Given the description of an element on the screen output the (x, y) to click on. 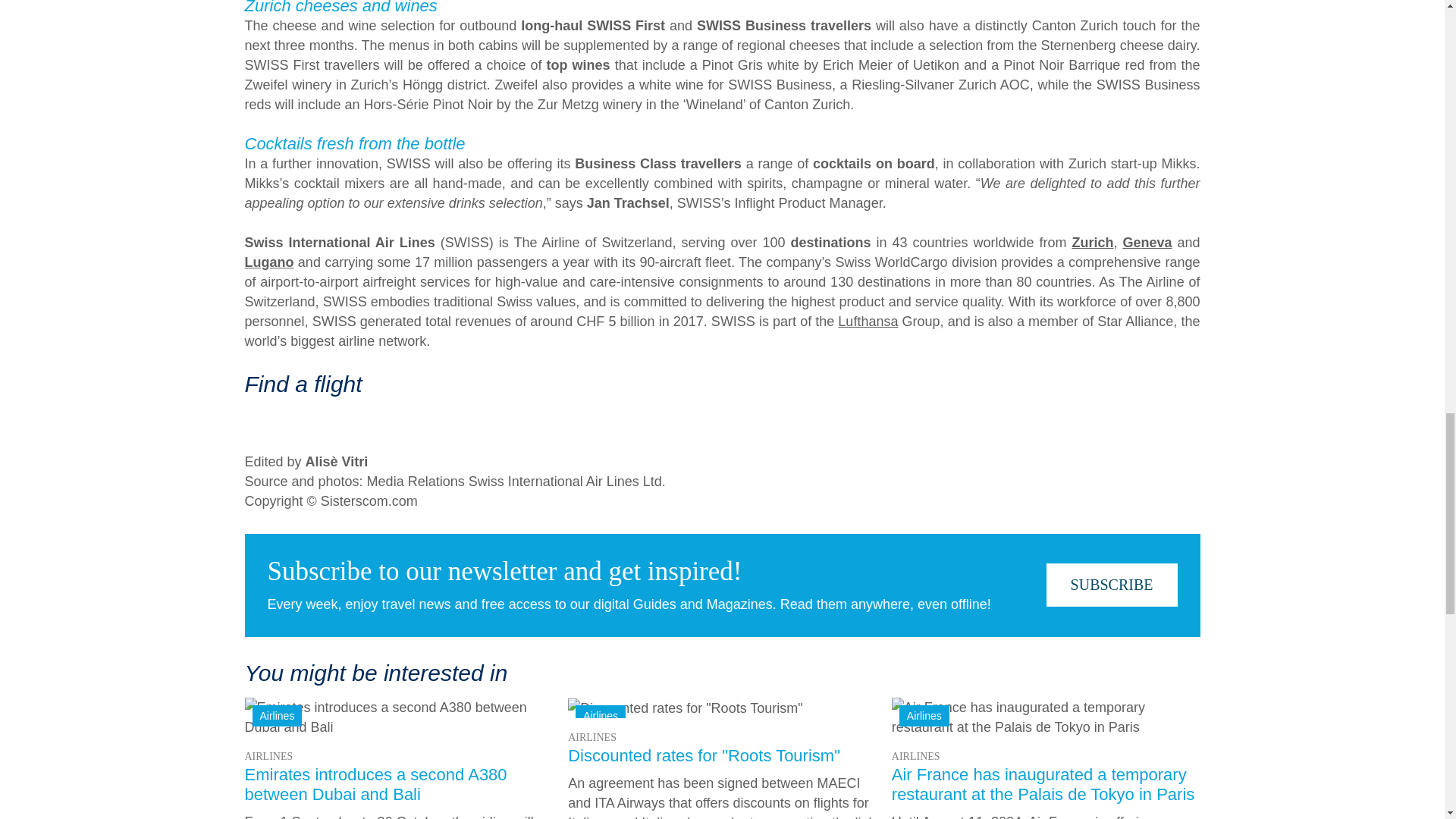
Lugano (269, 262)
Geneva (1147, 242)
Lufthansa (868, 321)
Zurich (1092, 242)
